Given the description of an element on the screen output the (x, y) to click on. 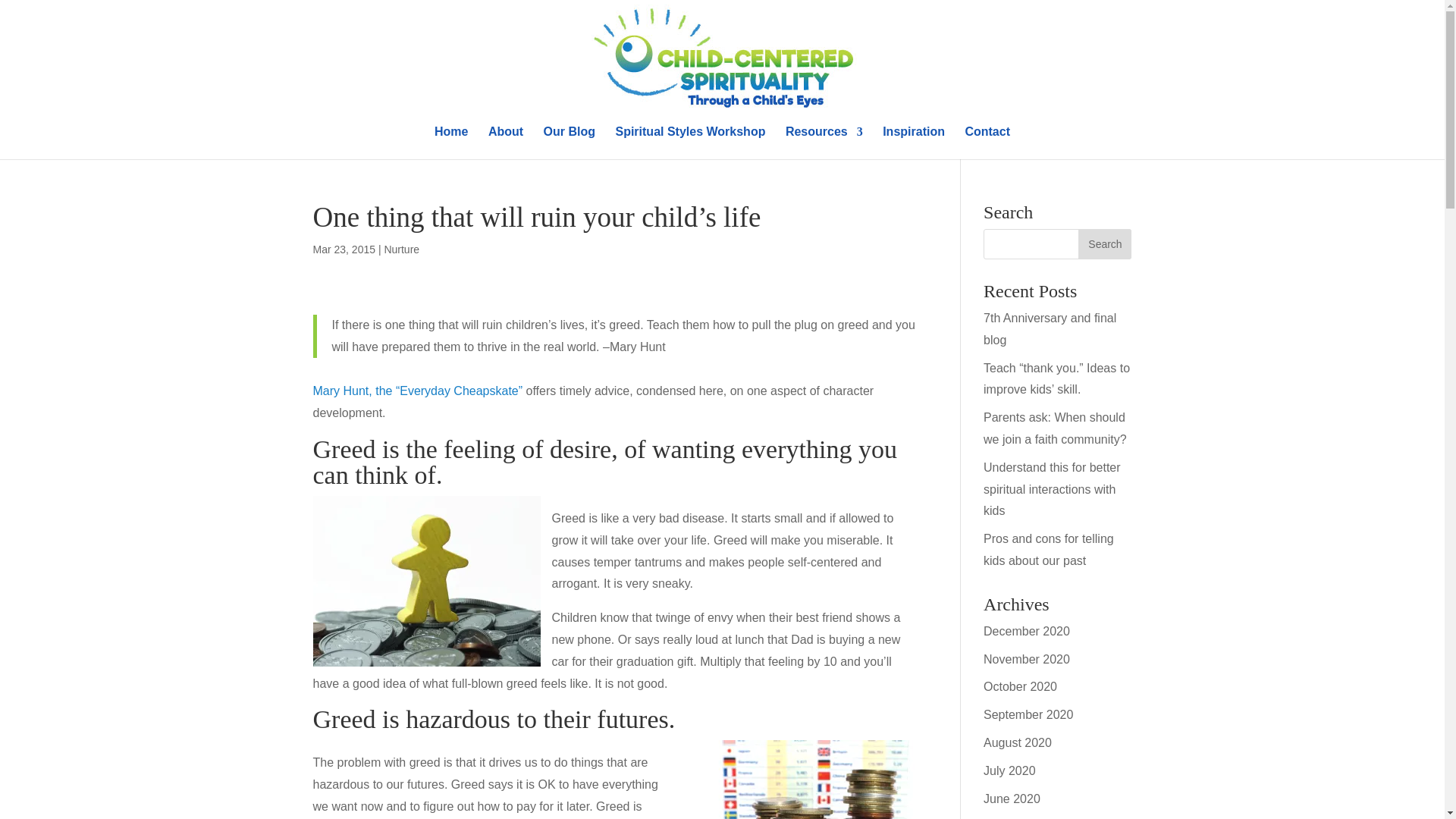
Understand this for better spiritual interactions with kids (1052, 489)
Our Blog (569, 142)
Search (1104, 244)
Spiritual Styles Workshop (689, 142)
Nurture (401, 249)
Search (1104, 244)
About (504, 142)
Parents ask: When should we join a faith community? (1055, 428)
Contact (986, 142)
December 2020 (1027, 631)
7th Anniversary and final blog (1050, 329)
Inspiration (913, 142)
Home (450, 142)
Pros and cons for telling kids about our past (1048, 549)
Resources (824, 142)
